Given the description of an element on the screen output the (x, y) to click on. 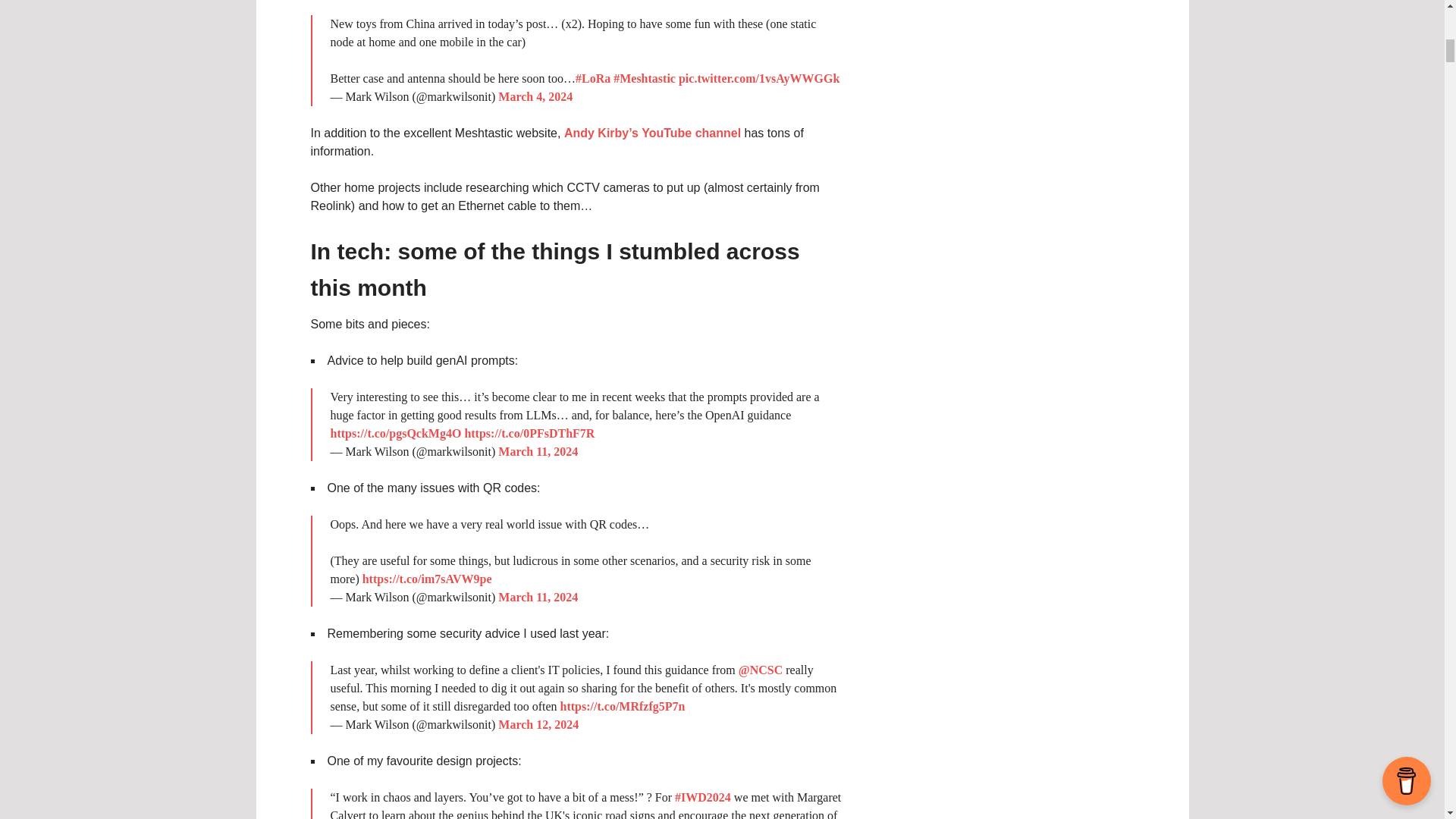
March 12, 2024 (537, 724)
March 4, 2024 (534, 96)
March 11, 2024 (537, 596)
March 11, 2024 (537, 451)
